Given the description of an element on the screen output the (x, y) to click on. 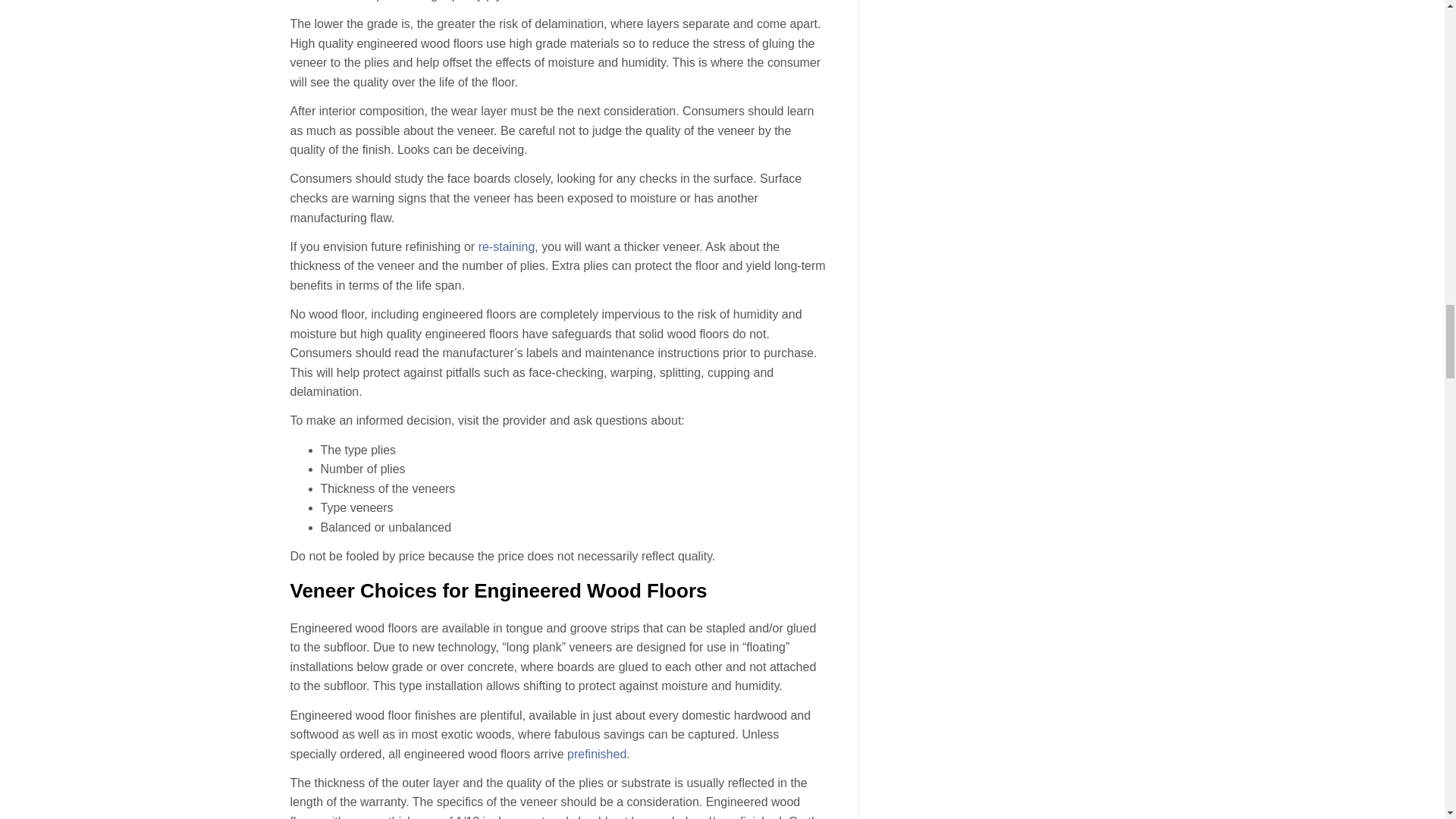
prefinished (596, 753)
re-staining (507, 246)
